Given the description of an element on the screen output the (x, y) to click on. 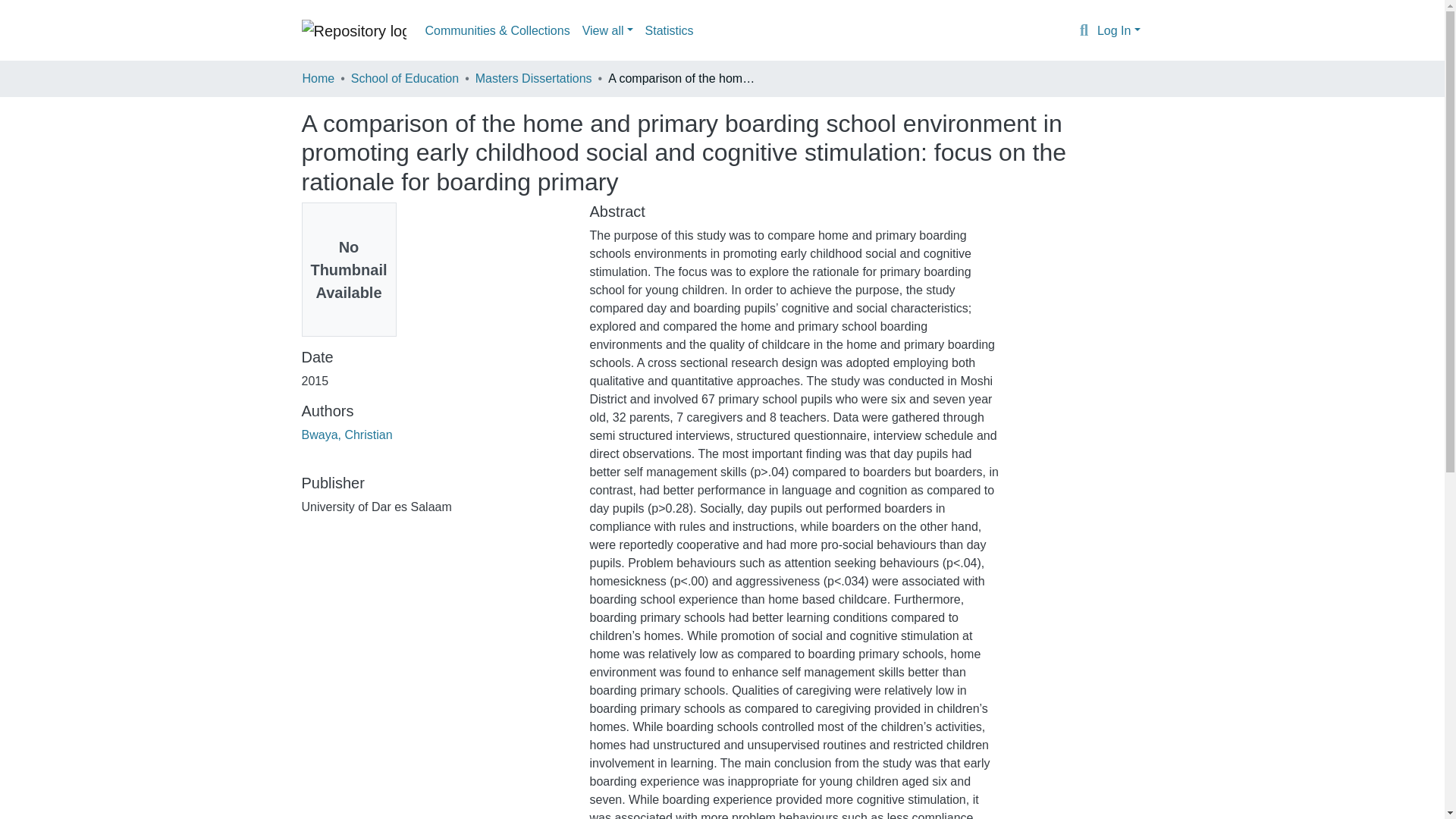
Masters Dissertations (534, 78)
School of Education (404, 78)
View all (607, 30)
Home (317, 78)
Log In (1118, 30)
Bwaya, Christian (347, 434)
Search (1084, 30)
Statistics (669, 30)
Statistics (669, 30)
